Given the description of an element on the screen output the (x, y) to click on. 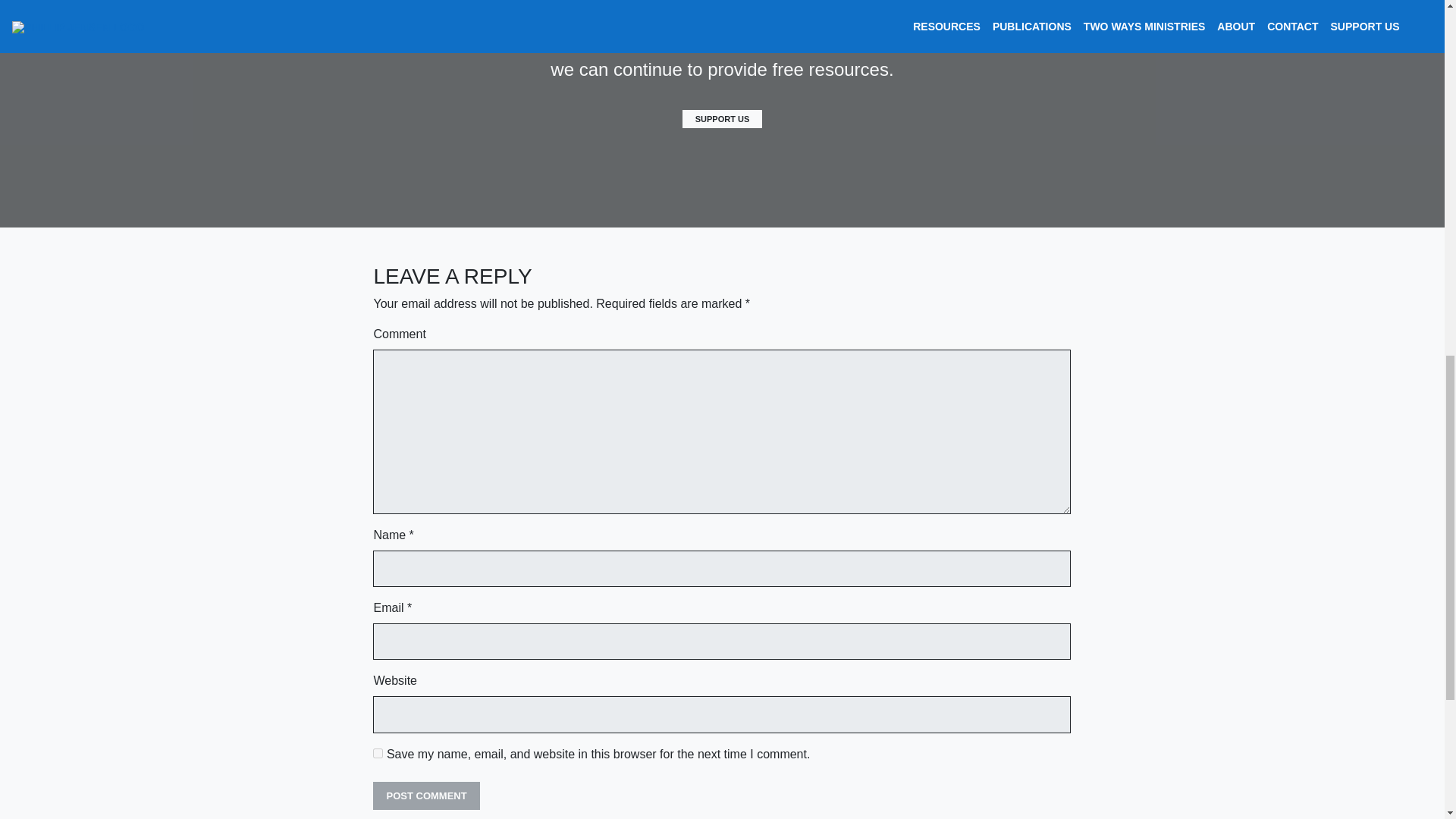
Support us (722, 118)
SUPPORT US (722, 118)
yes (377, 753)
Post Comment (425, 796)
Post Comment (425, 796)
